Given the description of an element on the screen output the (x, y) to click on. 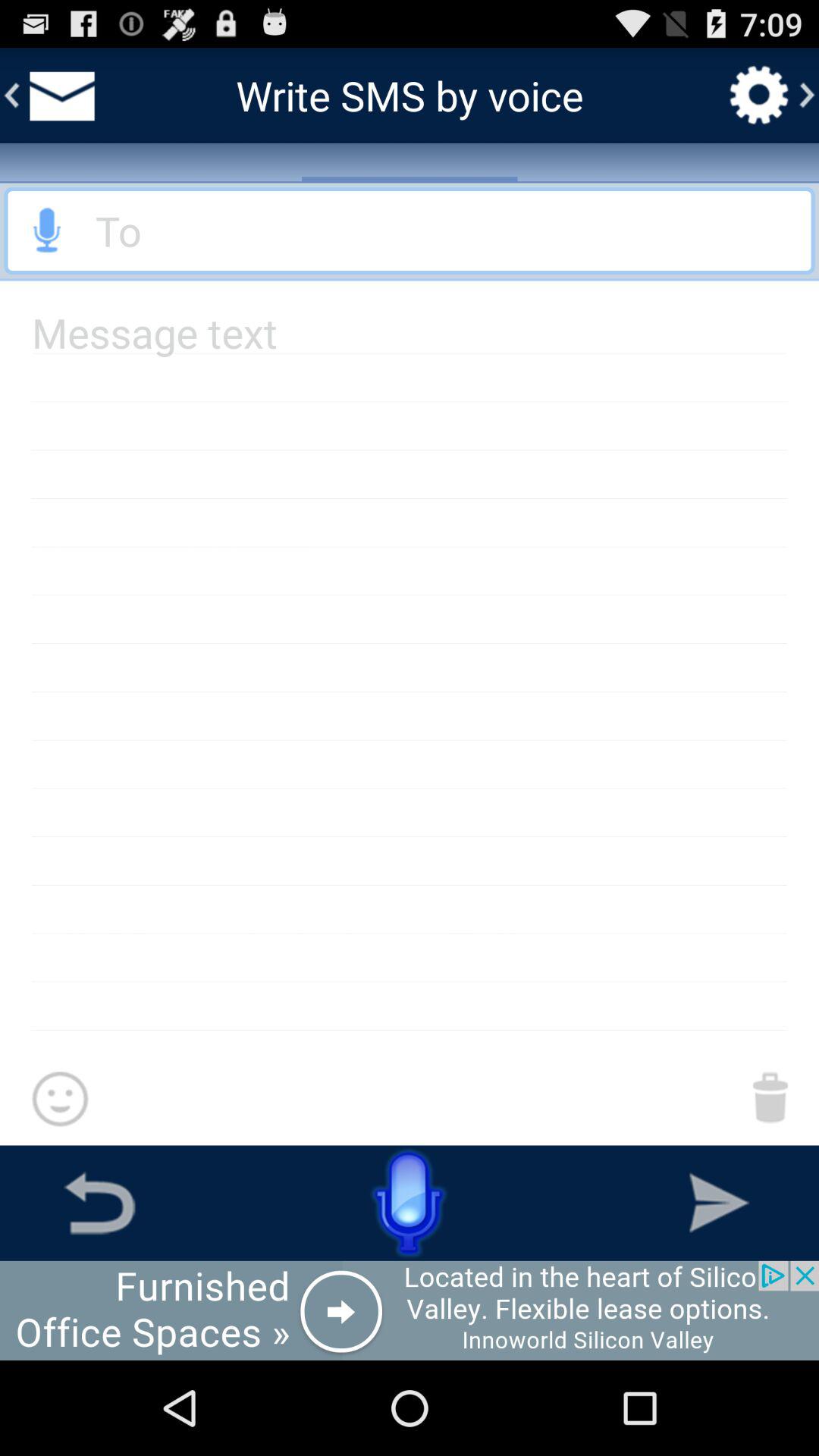
go to previous page (99, 1202)
